Given the description of an element on the screen output the (x, y) to click on. 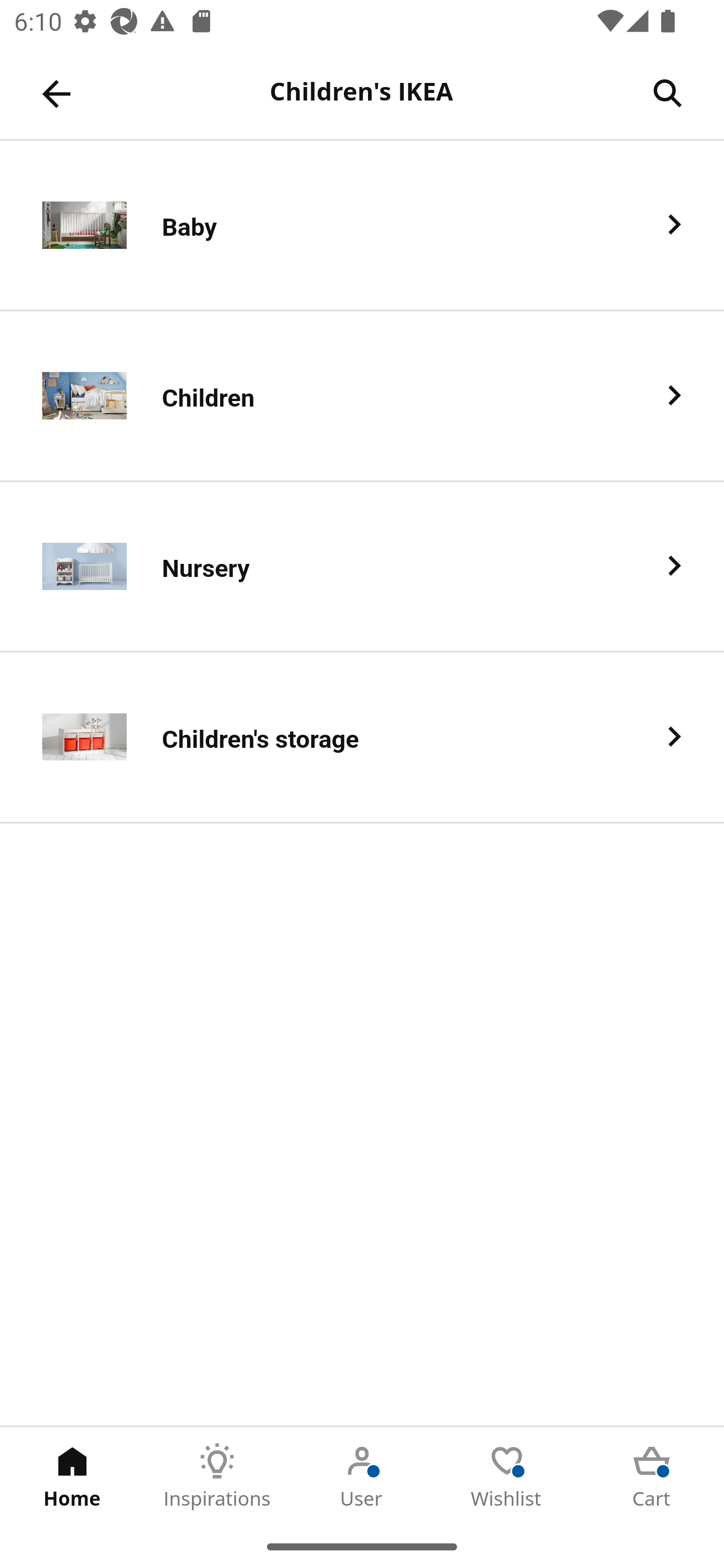
Baby (362, 226)
Children (362, 396)
Nursery (362, 566)
Children's storage (362, 737)
Home
Tab 1 of 5 (72, 1476)
Inspirations
Tab 2 of 5 (216, 1476)
User
Tab 3 of 5 (361, 1476)
Wishlist
Tab 4 of 5 (506, 1476)
Cart
Tab 5 of 5 (651, 1476)
